Given the description of an element on the screen output the (x, y) to click on. 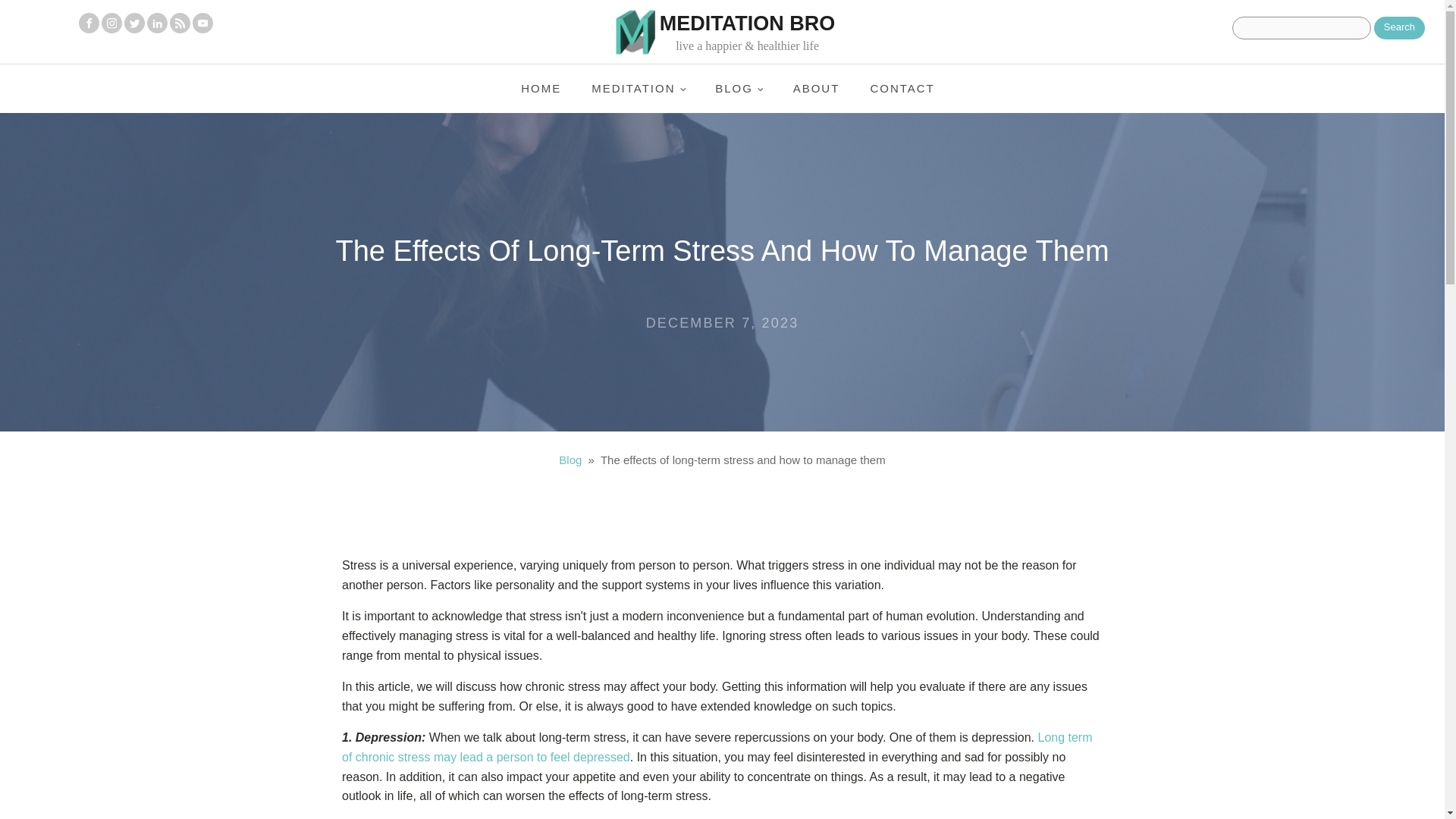
HOME (540, 88)
CONTACT (901, 88)
MEDITATION (638, 88)
Breadcrumb link to Blog (569, 459)
Search (1399, 27)
BLOG (738, 88)
Search (1399, 27)
ABOUT (816, 88)
Blog (569, 459)
